Given the description of an element on the screen output the (x, y) to click on. 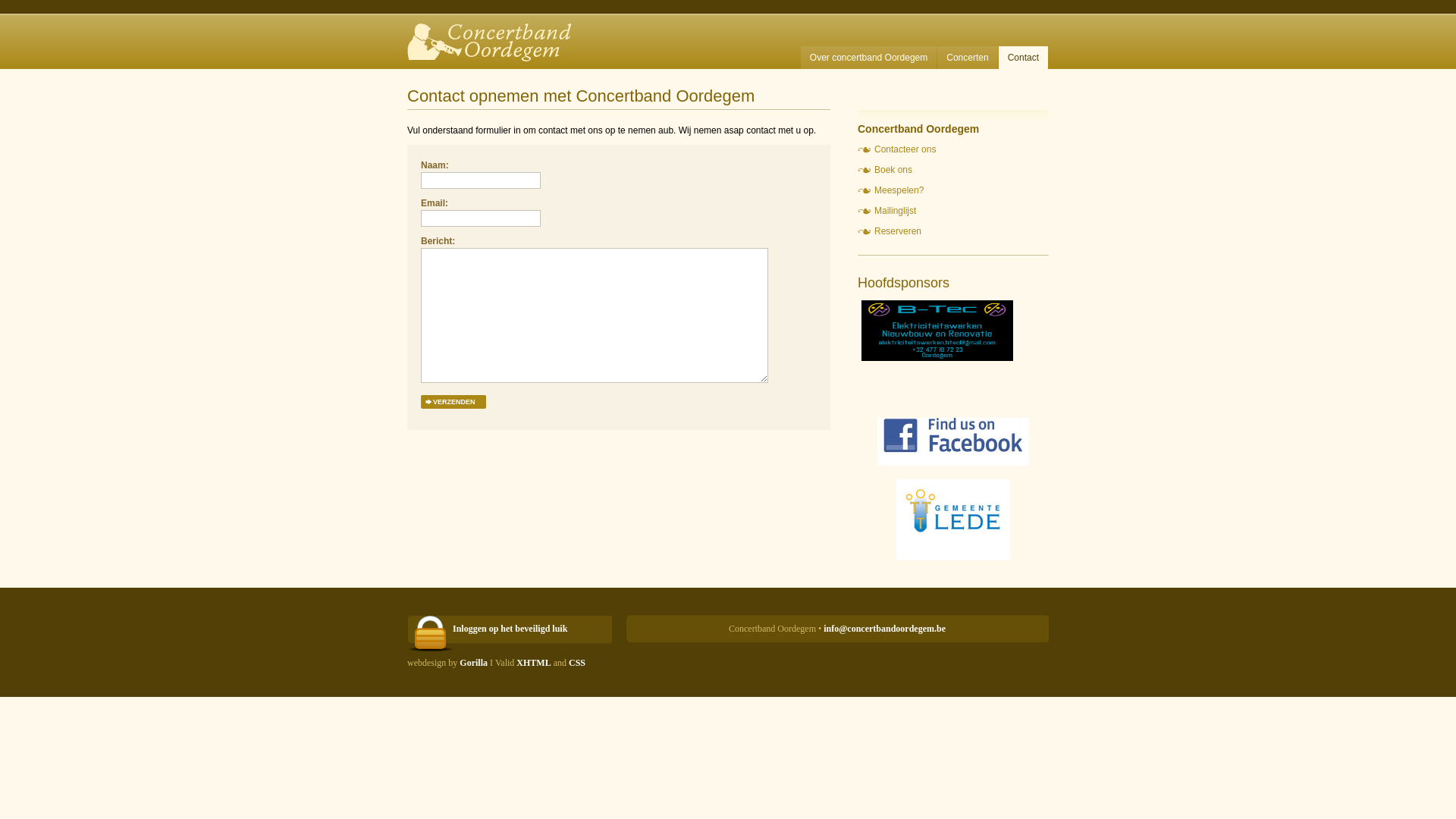
Over concertband Oordegem Element type: text (868, 57)
Vul een geldig e-mail adres in Element type: hover (480, 218)
Boek ons Element type: text (884, 169)
Gorilla Element type: text (473, 662)
Mailinglijst Element type: text (886, 210)
Inloggen op het beveiligd luik Element type: text (509, 625)
CSS Element type: text (576, 662)
Concertband Oordegem Element type: text (495, 34)
Concerten Element type: text (967, 57)
info@concertbandoordegem.be Element type: text (884, 628)
Contact Element type: text (1023, 57)
Vul uw vraag of bericht in Element type: hover (594, 314)
Reserveren Element type: text (889, 230)
Contacteer ons Element type: text (896, 149)
Vul uw naam in Element type: hover (480, 180)
XHTML Element type: text (533, 662)
Verzenden Element type: text (453, 401)
Meespelen? Element type: text (890, 190)
